Given the description of an element on the screen output the (x, y) to click on. 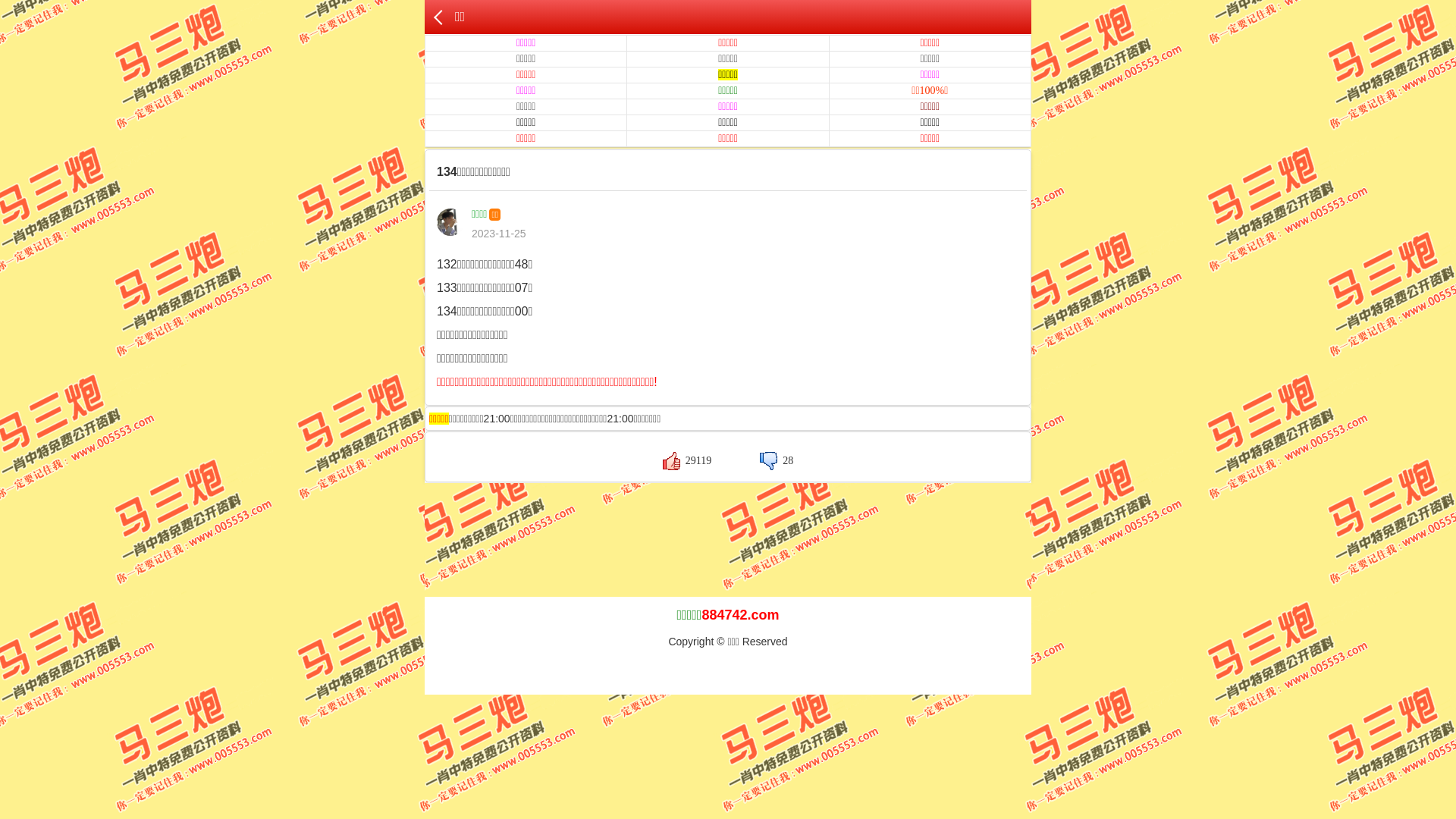
28 Element type: text (776, 460)
29119 Element type: text (686, 460)
